Given the description of an element on the screen output the (x, y) to click on. 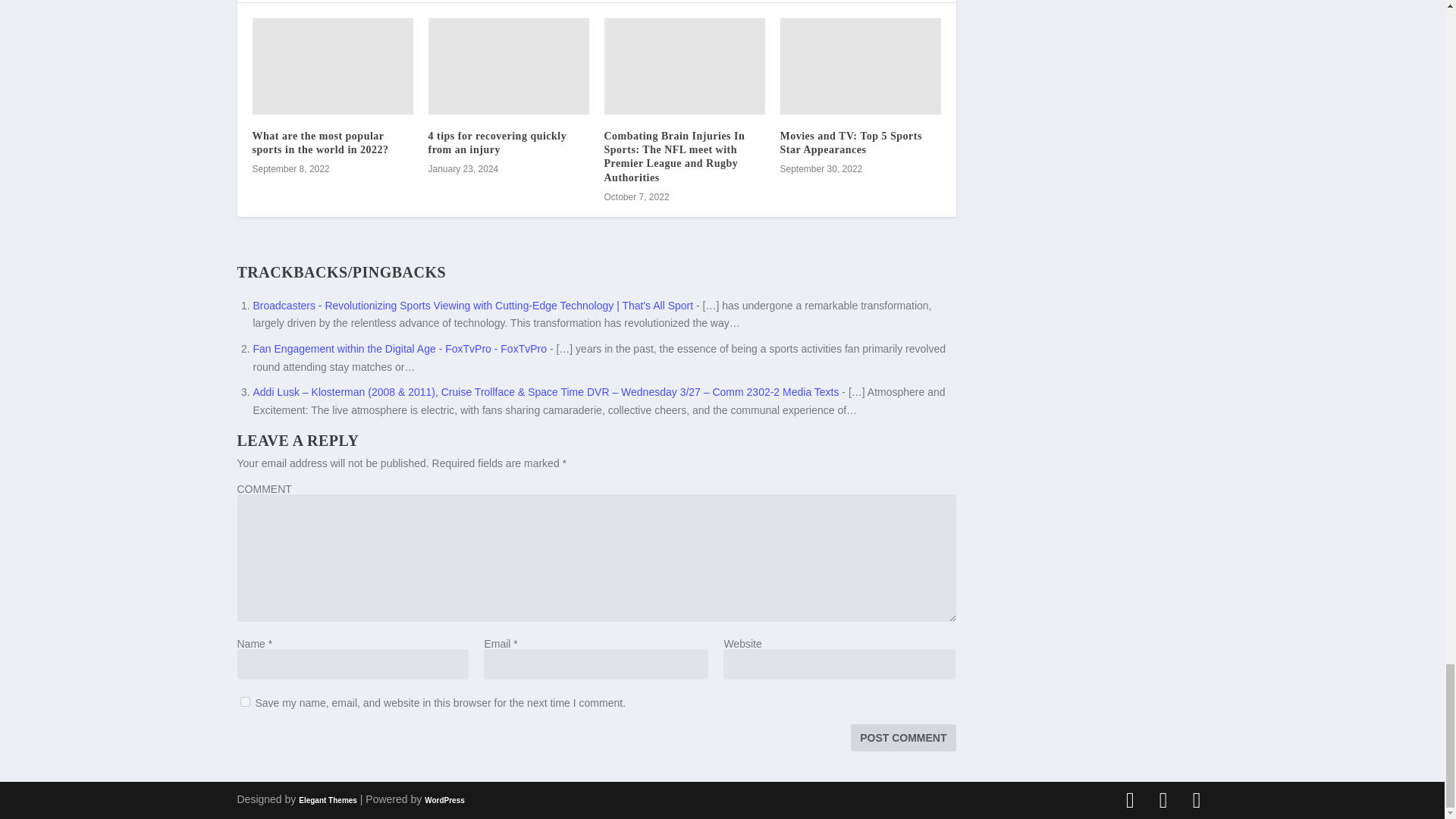
yes (244, 701)
Post Comment (902, 737)
